Given the description of an element on the screen output the (x, y) to click on. 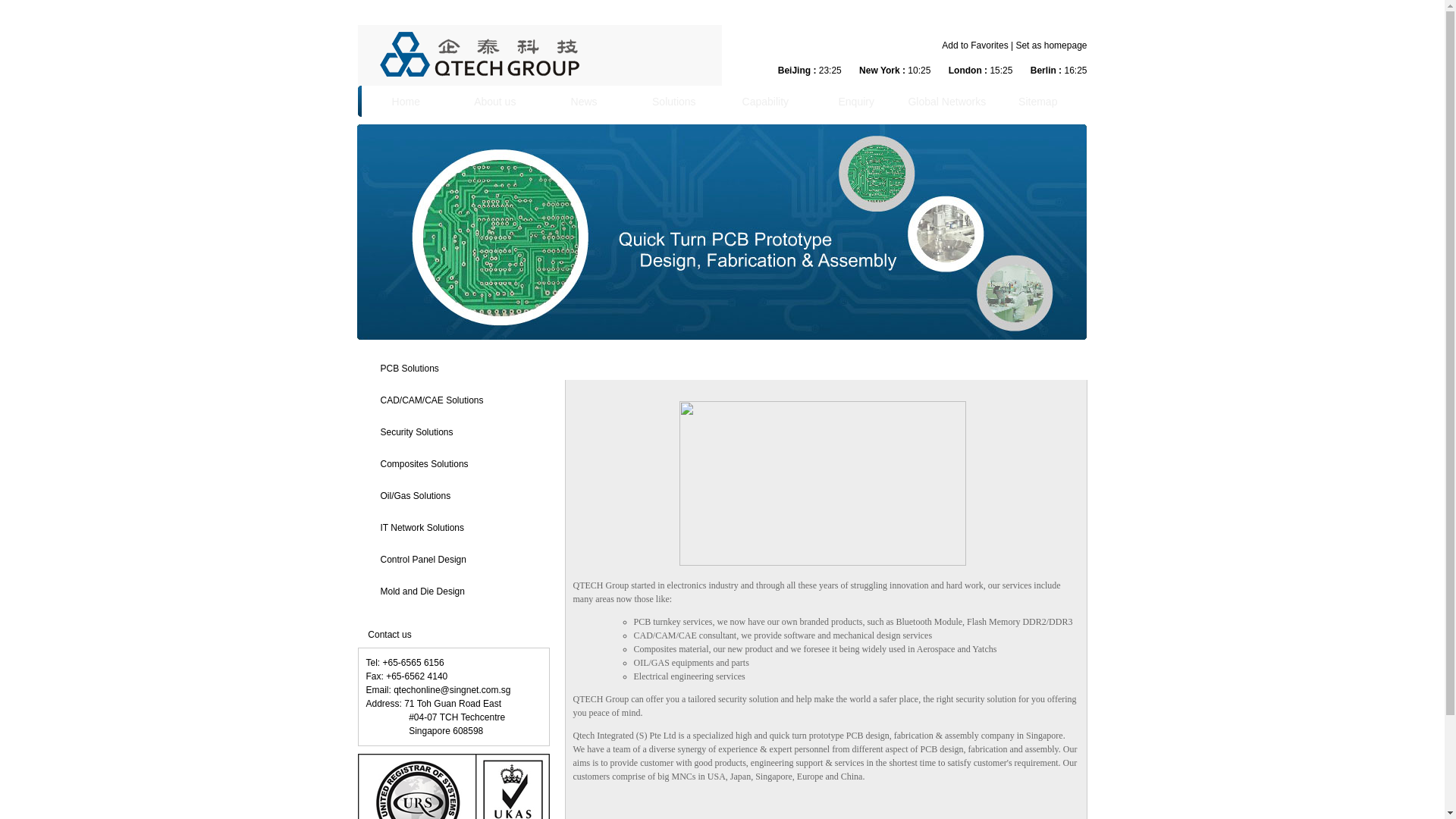
Composites Solutions (424, 462)
Solutions (673, 101)
IT Network Solutions (422, 526)
News (583, 101)
Global Networks (946, 101)
About us (494, 101)
Sitemap (1037, 101)
Control Panel Design (422, 558)
Set as homepage (1050, 45)
Capability (765, 101)
Mold and Die Design (422, 590)
Security Solutions (416, 430)
Add to Favorites (1014, 52)
Home (405, 101)
Enquiry (855, 101)
